Given the description of an element on the screen output the (x, y) to click on. 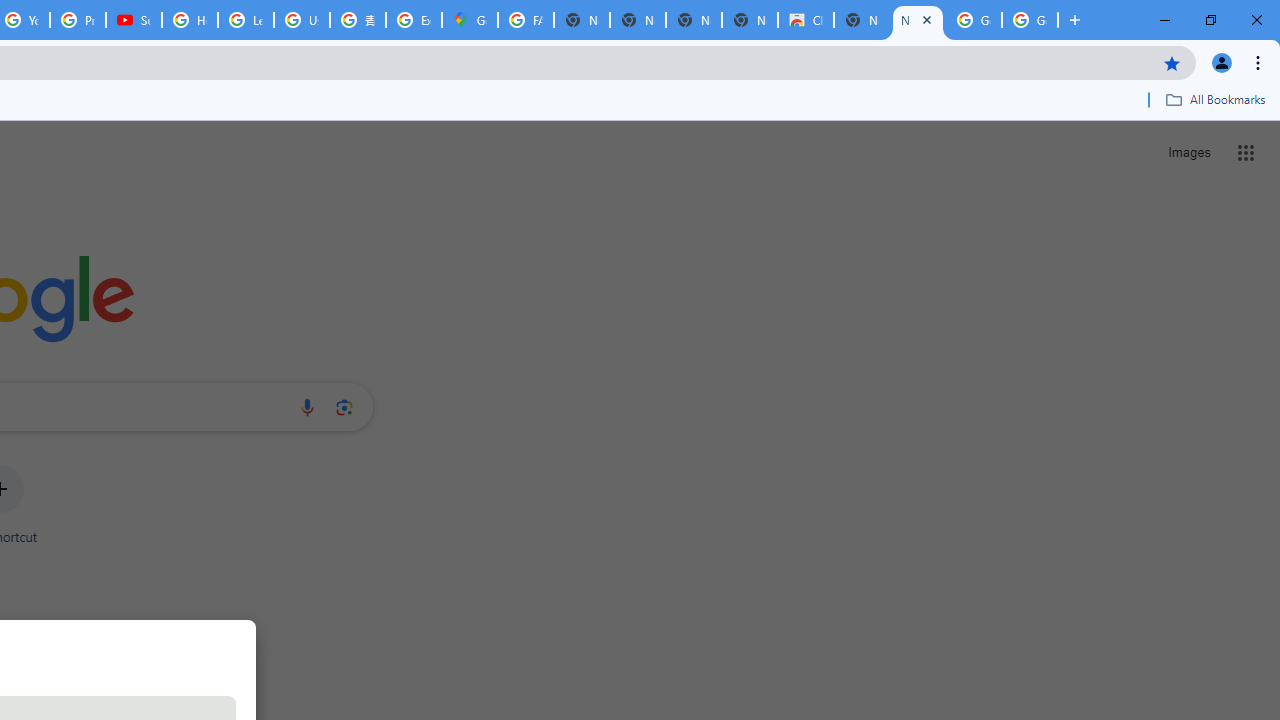
How Chrome protects your passwords - Google Chrome Help (189, 20)
Google Images (973, 20)
Restore (1210, 20)
You (1221, 62)
Google Maps (469, 20)
